Given the description of an element on the screen output the (x, y) to click on. 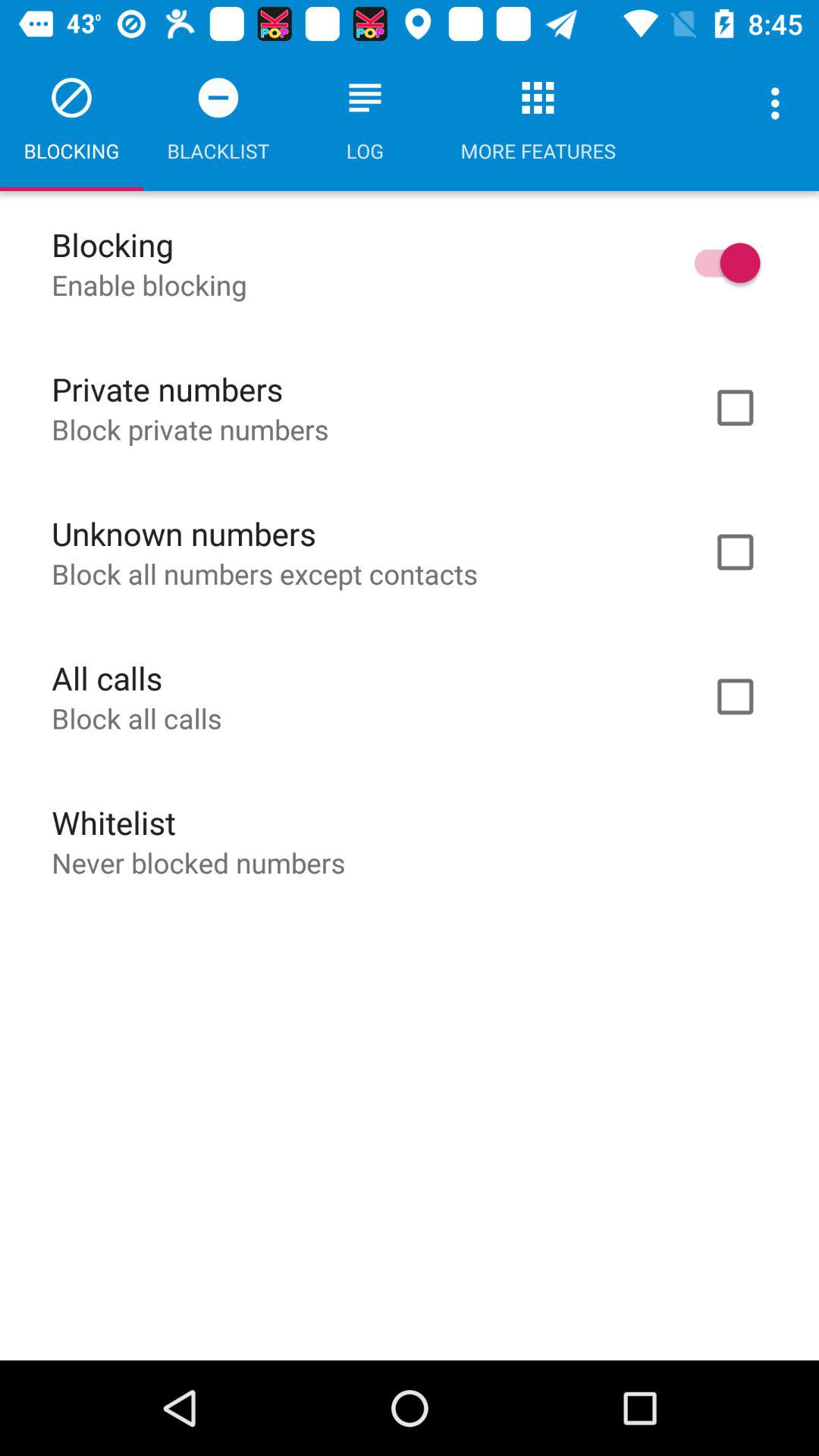
press the icon next to the more features (779, 103)
